Given the description of an element on the screen output the (x, y) to click on. 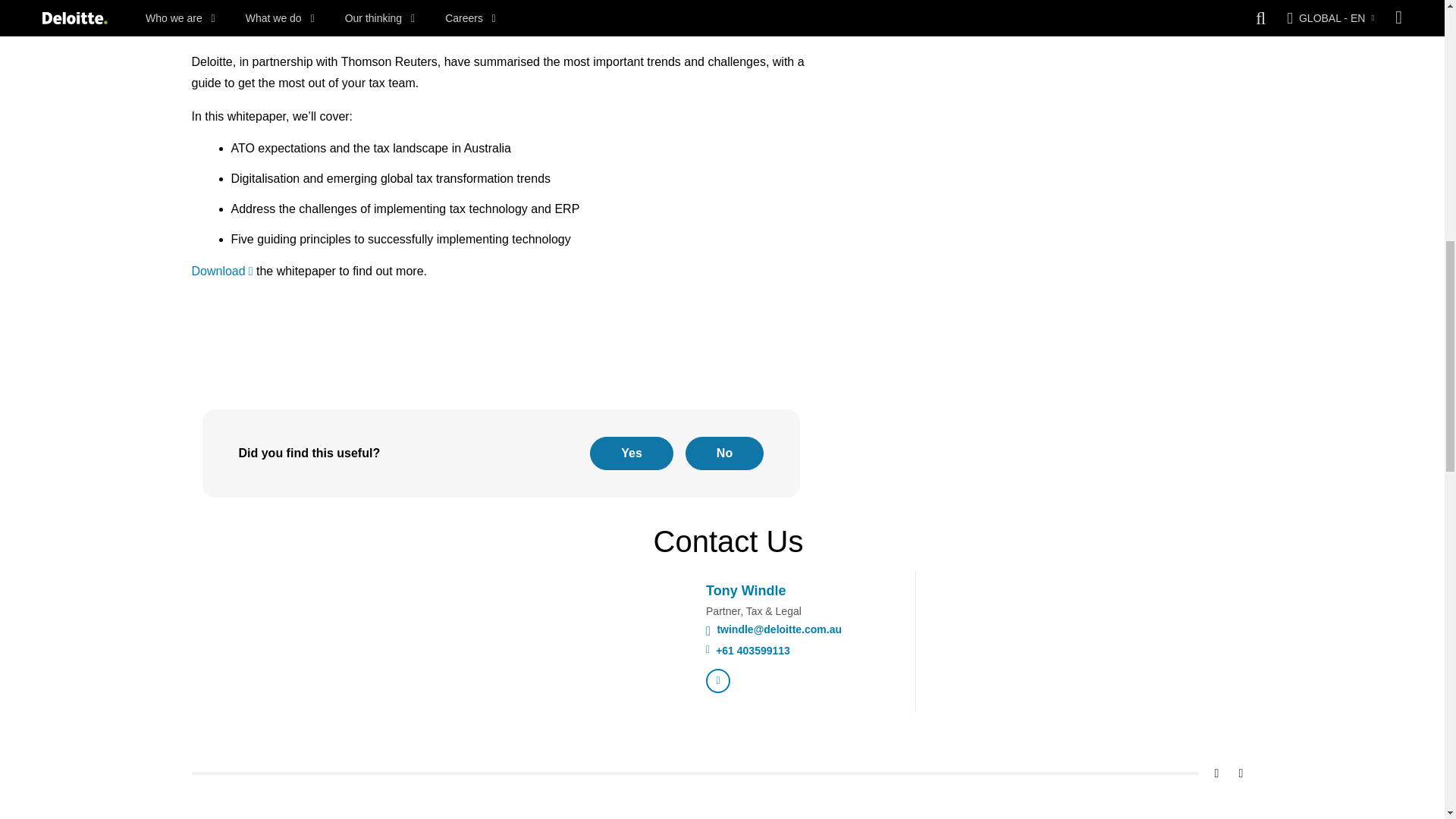
connect via linkedin (718, 680)
